Given the description of an element on the screen output the (x, y) to click on. 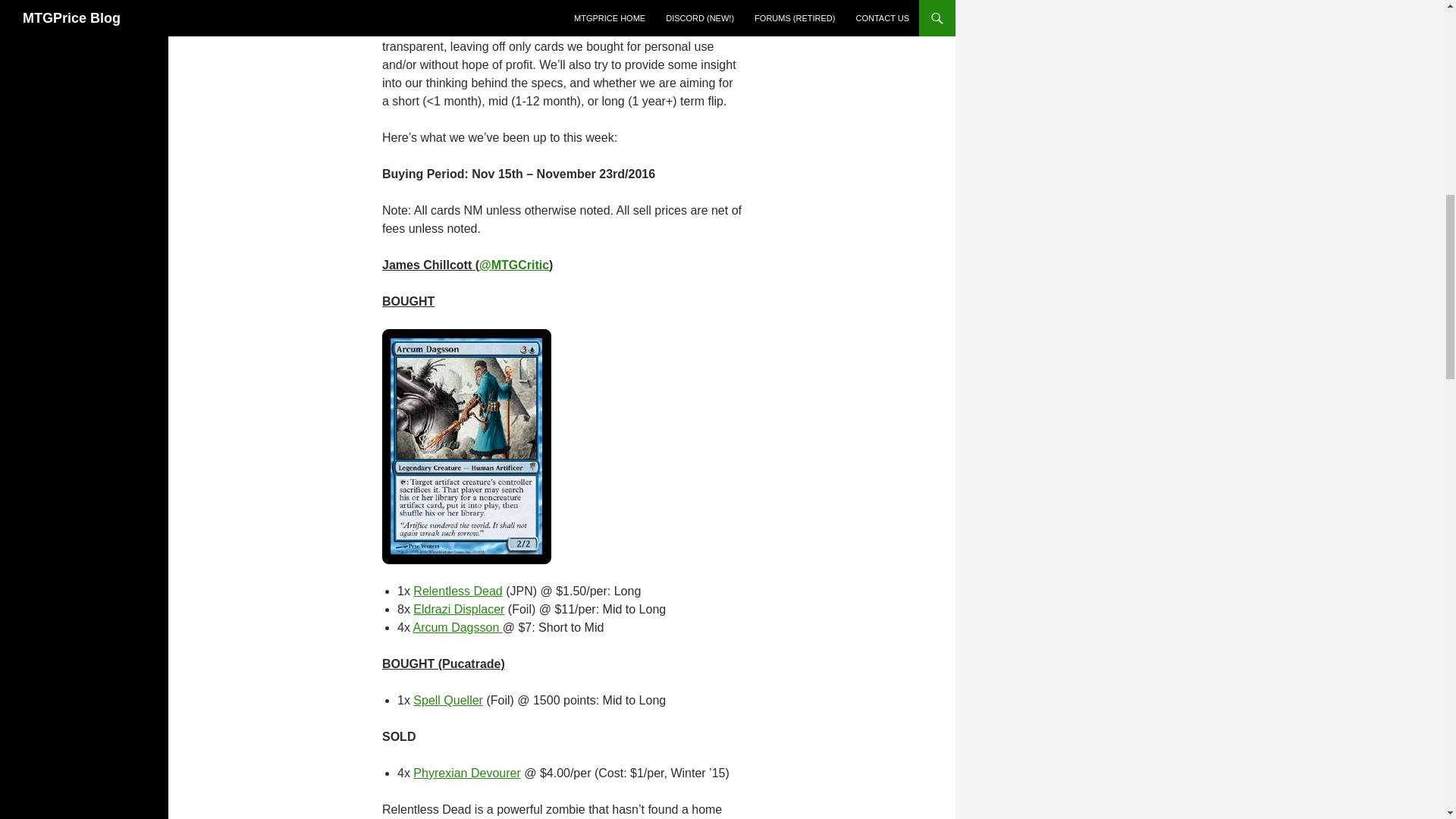
Relentless Dead (457, 590)
Eldrazi Displacer (458, 608)
Spell Queller (448, 699)
Phyrexian Devourer (466, 772)
Arcum Dagsson (457, 626)
